Given the description of an element on the screen output the (x, y) to click on. 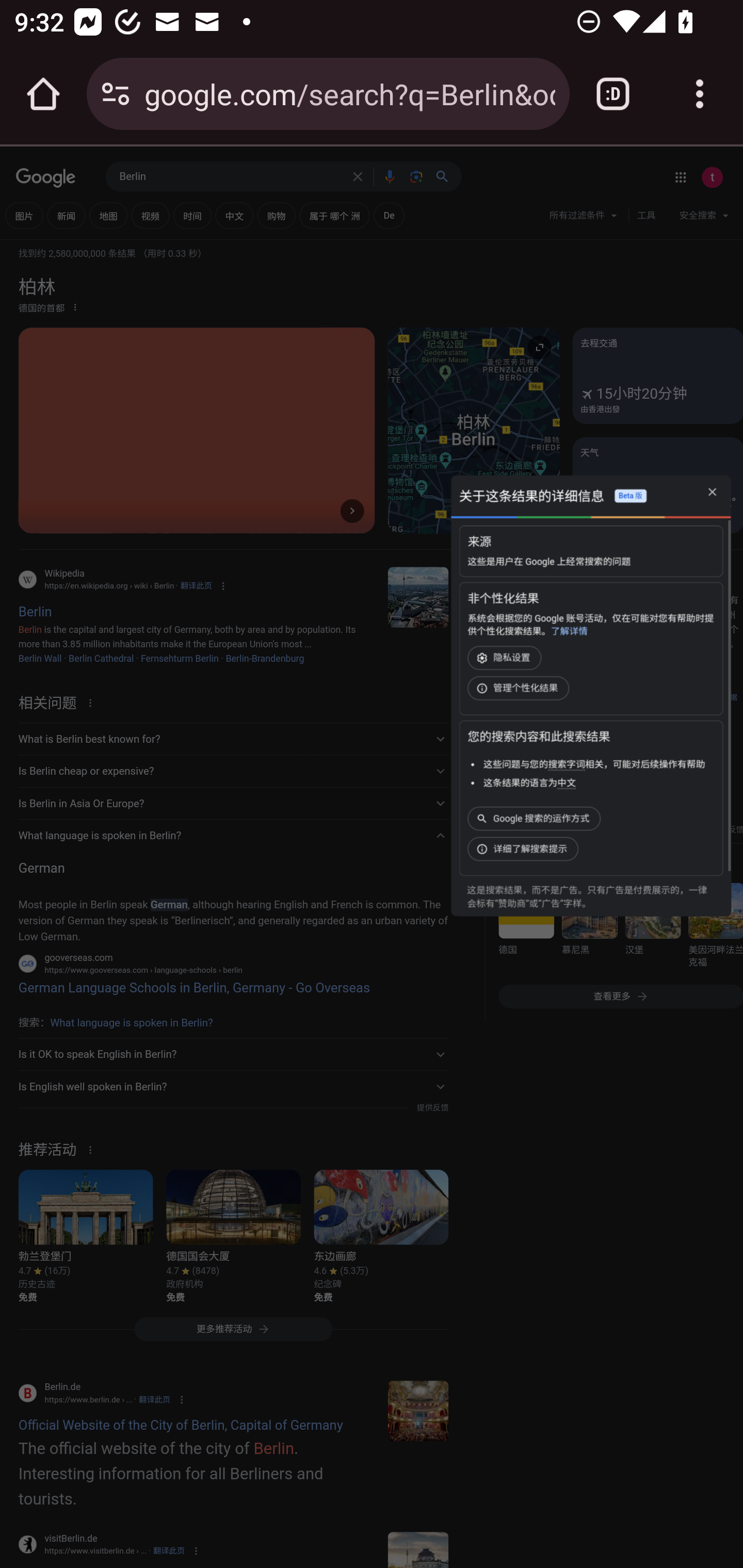
Open the home page (43, 93)
Connection is secure (115, 93)
Switch or close tabs (612, 93)
Customize and control Google Chrome (699, 93)
关闭“关于这条结果” (711, 492)
了解详情 (568, 630)
隐私设置 (506, 658)
管理个性化结果 (520, 687)
这些问题与您的搜索字词相关，可能对后续操作有帮助 (593, 763)
这条结果的语言为中文 (529, 782)
Google 搜索的运作方式 (535, 818)
详细了解搜索提示 (524, 848)
